Given the description of an element on the screen output the (x, y) to click on. 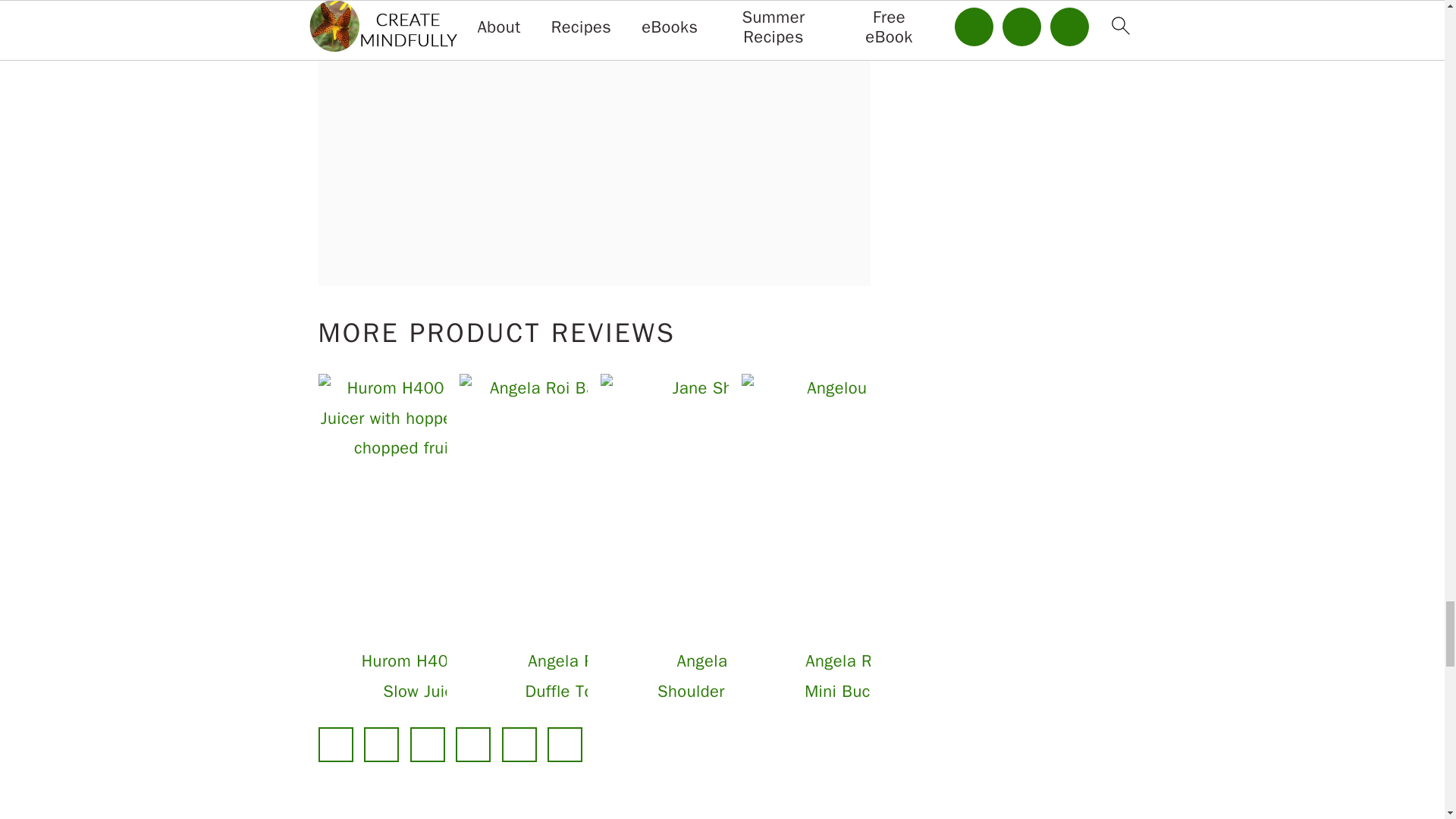
Share on X (381, 744)
Share on Flipboard (519, 744)
Save to Pinterest (427, 744)
Share on Reddit (472, 744)
Share on Facebook (335, 744)
